Given the description of an element on the screen output the (x, y) to click on. 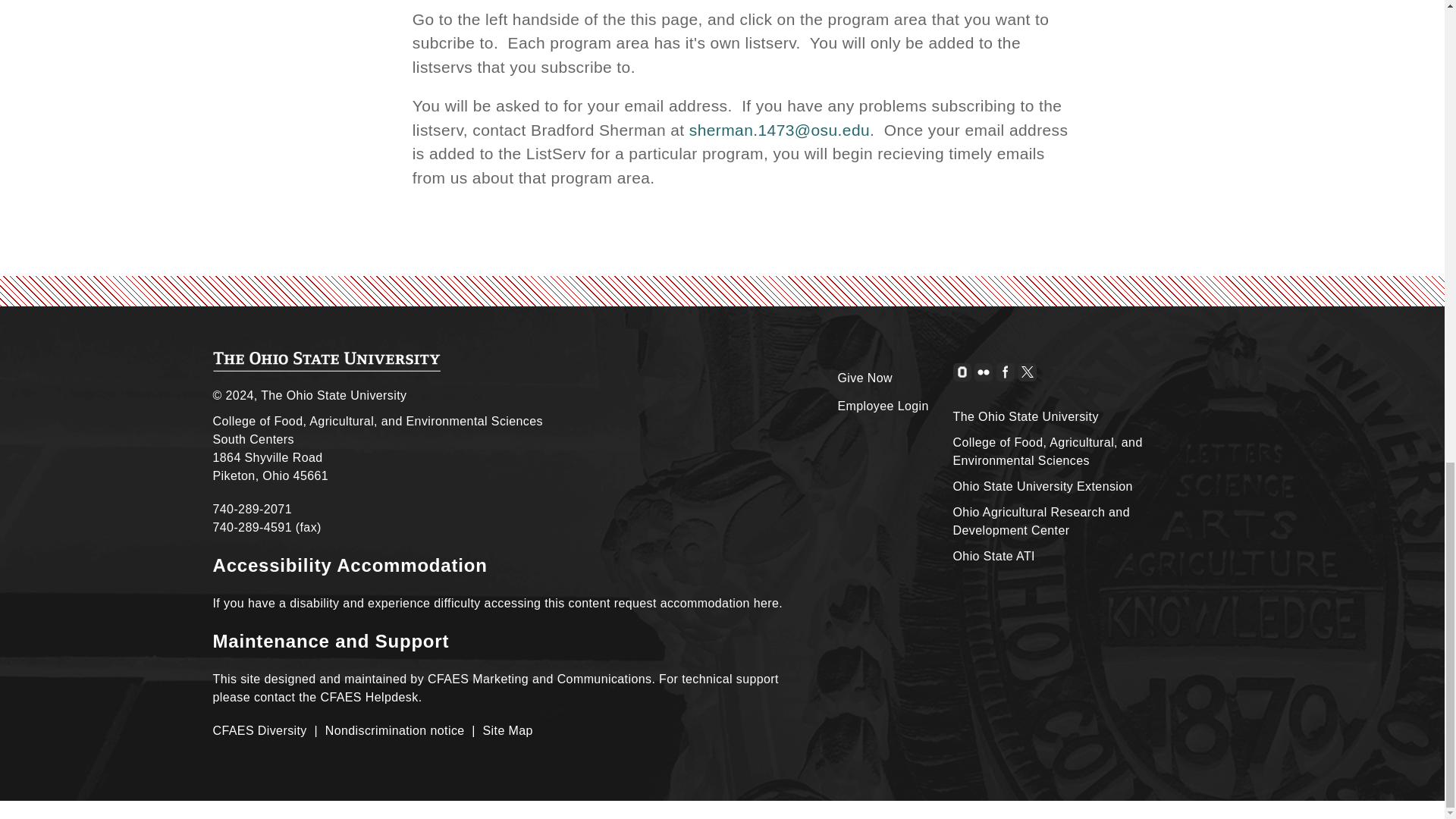
CFAES Home (325, 361)
